Given the description of an element on the screen output the (x, y) to click on. 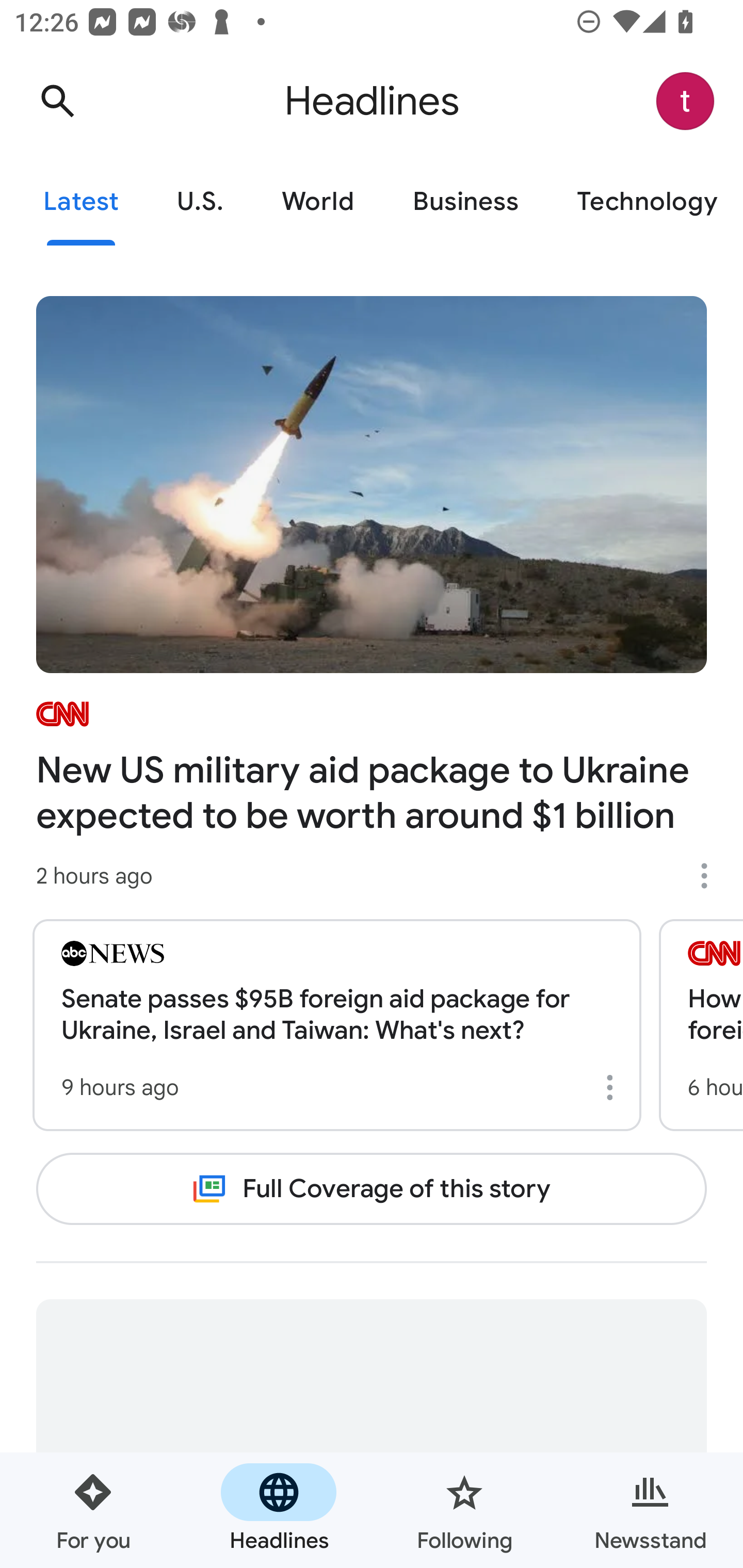
Search (57, 100)
U.S. (199, 202)
World (317, 202)
Business (465, 202)
Technology (645, 202)
More options (711, 875)
More options (613, 1086)
Full Coverage of this story (371, 1188)
For you (92, 1509)
Headlines (278, 1509)
Following (464, 1509)
Newsstand (650, 1509)
